Given the description of an element on the screen output the (x, y) to click on. 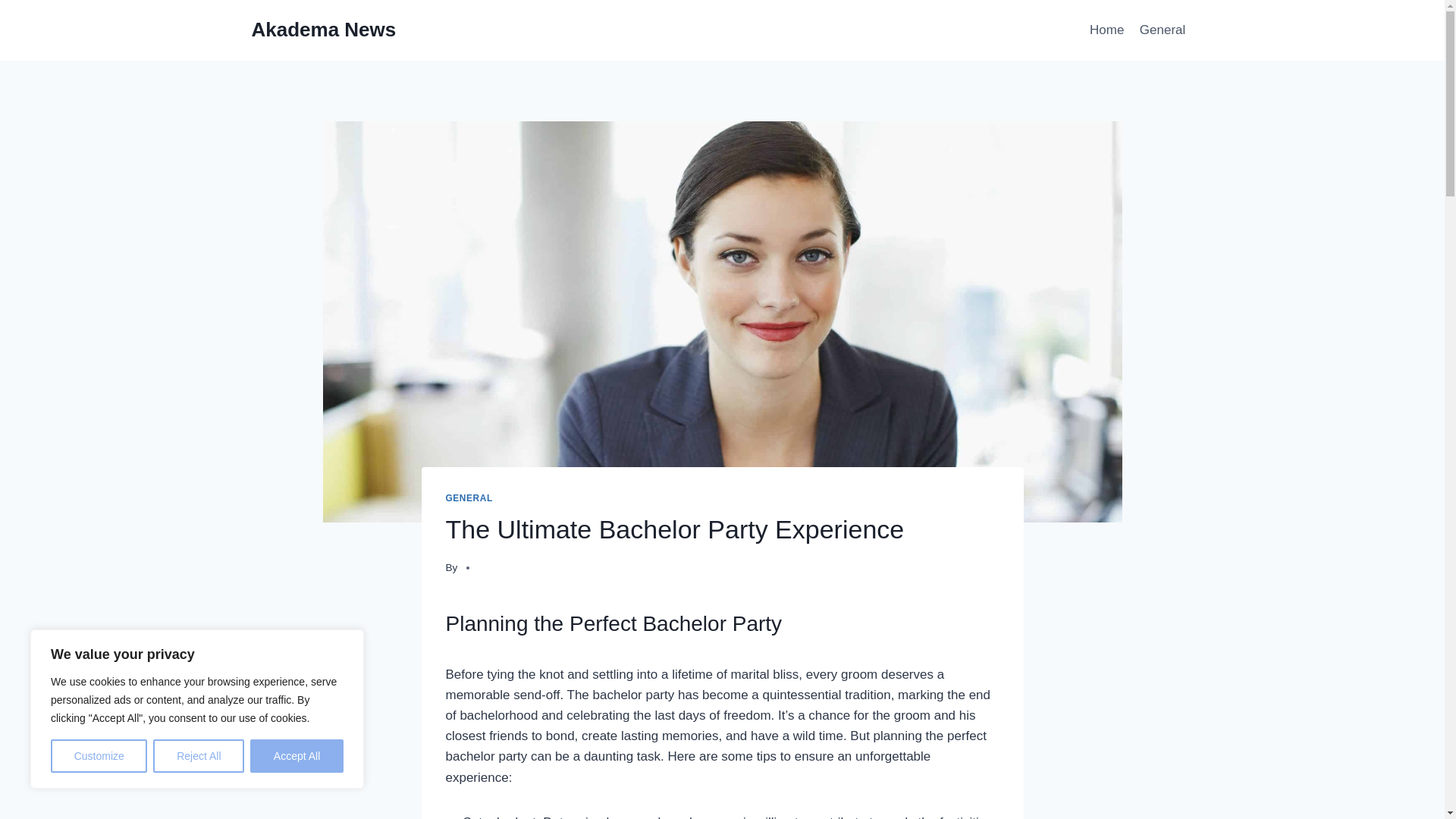
Customize (98, 756)
Home (1106, 30)
Akadema News (323, 29)
GENERAL (469, 498)
Accept All (296, 756)
Reject All (198, 756)
General (1162, 30)
